Given the description of an element on the screen output the (x, y) to click on. 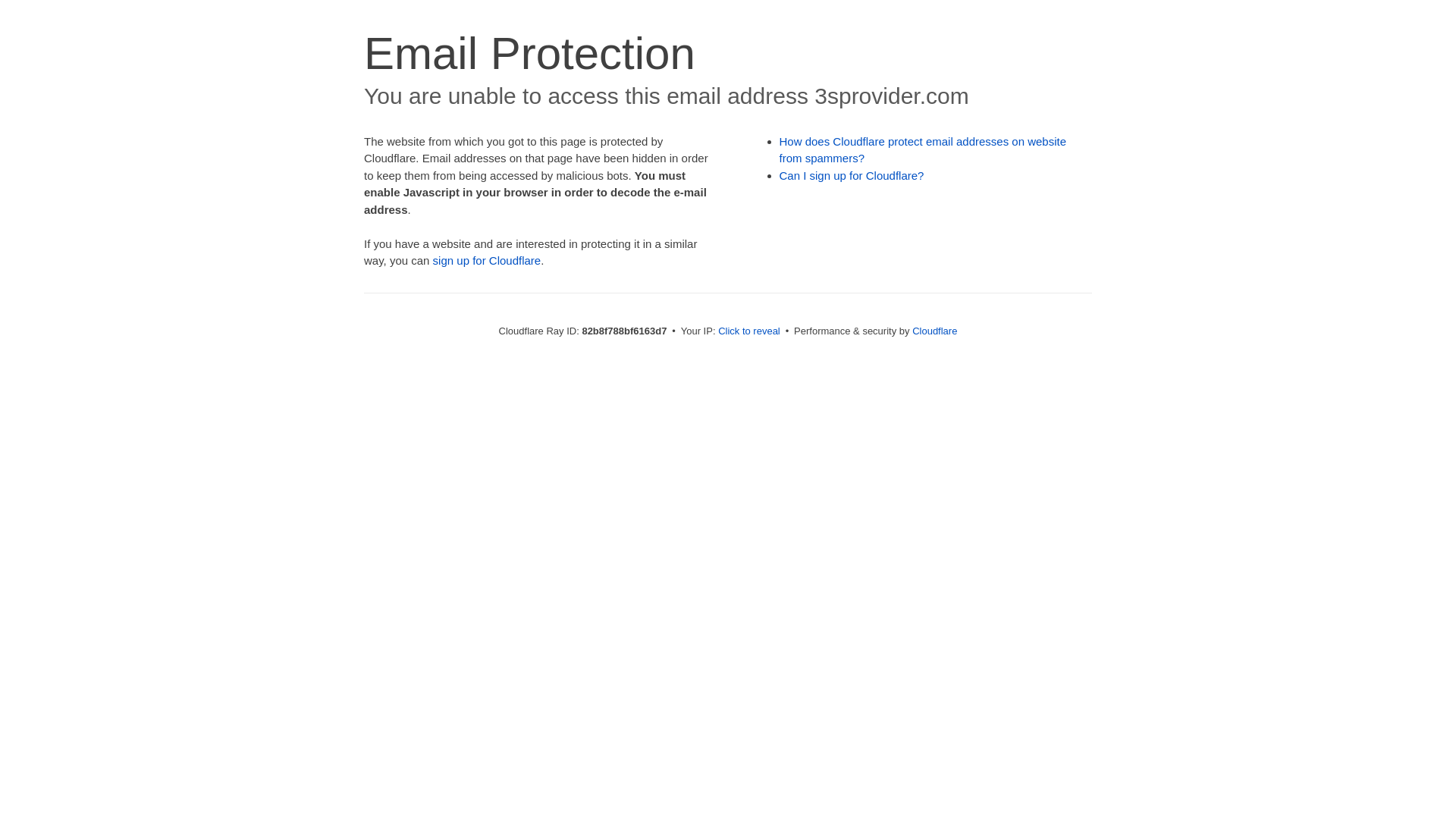
Click to reveal Element type: text (749, 330)
Cloudflare Element type: text (934, 330)
sign up for Cloudflare Element type: text (487, 260)
Can I sign up for Cloudflare? Element type: text (851, 175)
